Given the description of an element on the screen output the (x, y) to click on. 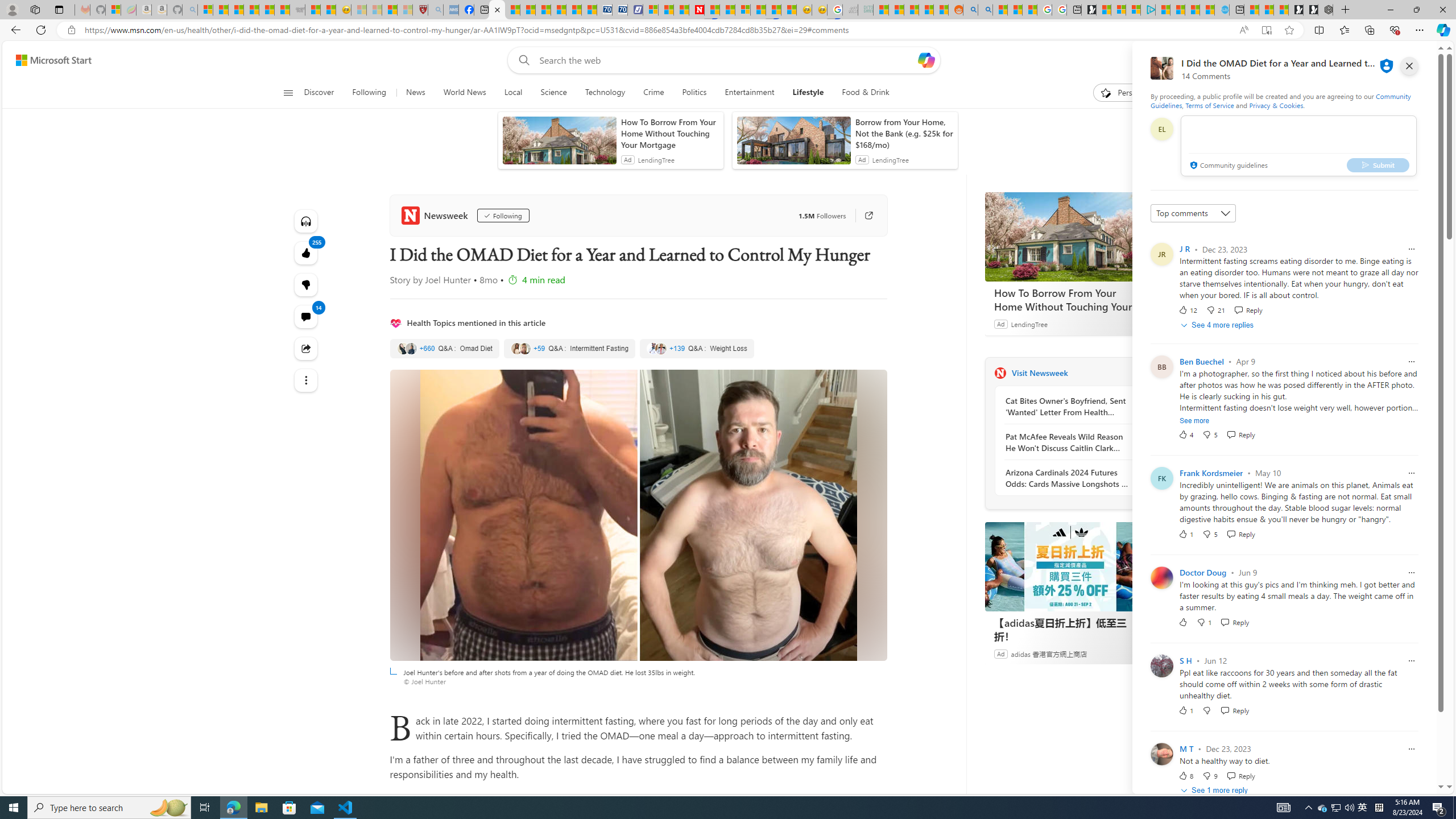
LendingTree (1029, 323)
Profile Picture (1161, 753)
Terms of Service (1209, 104)
Doctor Doug (1203, 572)
